Given the description of an element on the screen output the (x, y) to click on. 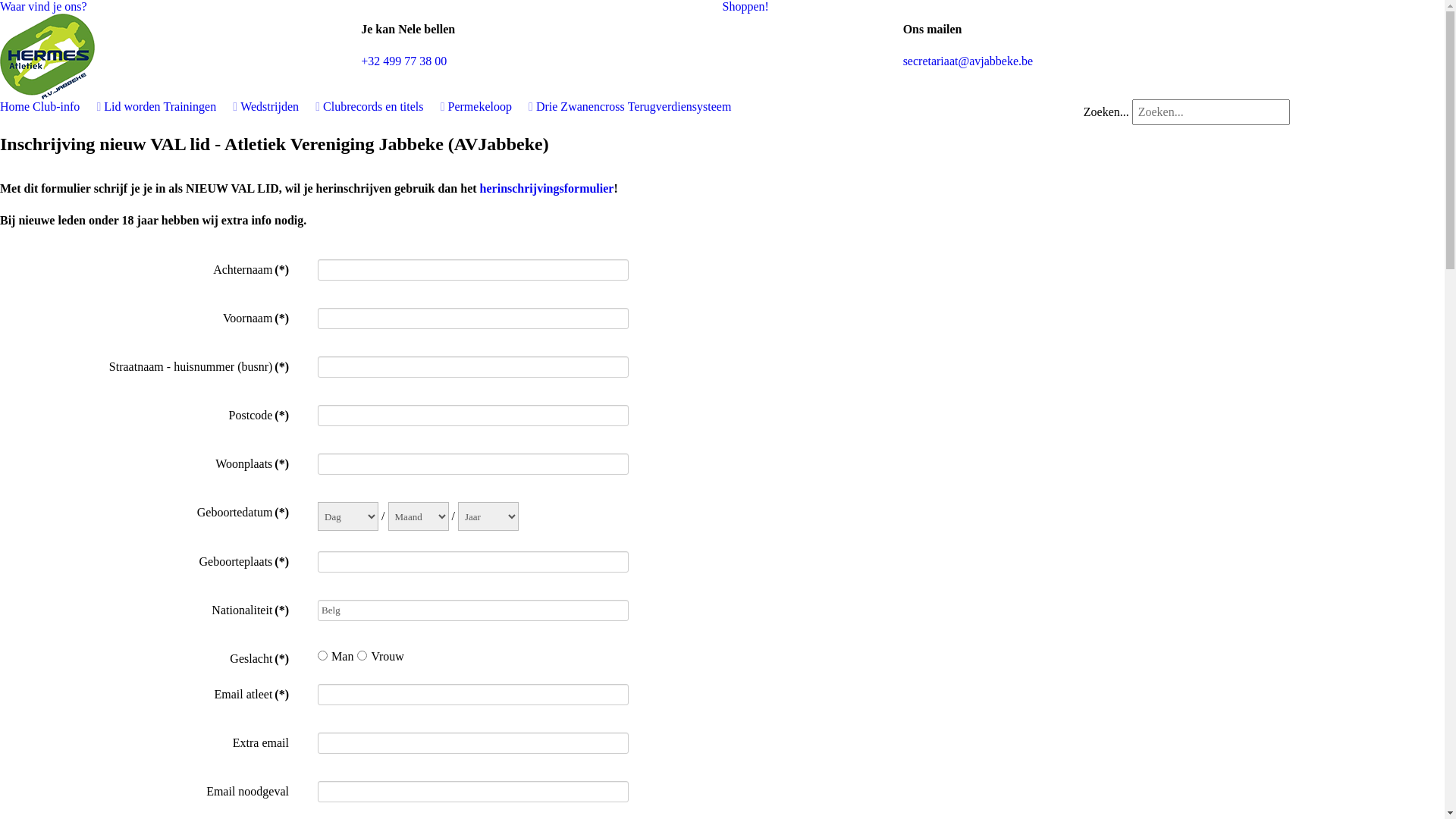
Trainingen Element type: text (200, 106)
Clubrecords en titels Element type: text (383, 106)
Home Element type: text (14, 106)
Drie Zwanencross Element type: text (580, 106)
Terugverdiensysteem Element type: text (679, 106)
Wedstrijden Element type: text (280, 106)
herinschrijvingsformulier Element type: text (547, 188)
Club-info Element type: text (66, 106)
+32 499 77 38 00 Element type: text (403, 60)
secretariaat@avjabbeke.be Element type: text (968, 60)
AV Jabbeke Element type: hover (47, 54)
Waar vind je ons? Element type: text (43, 6)
Permekeloop Element type: text (490, 106)
Shoppen! Element type: text (744, 6)
Lid worden Element type: text (131, 106)
